Given the description of an element on the screen output the (x, y) to click on. 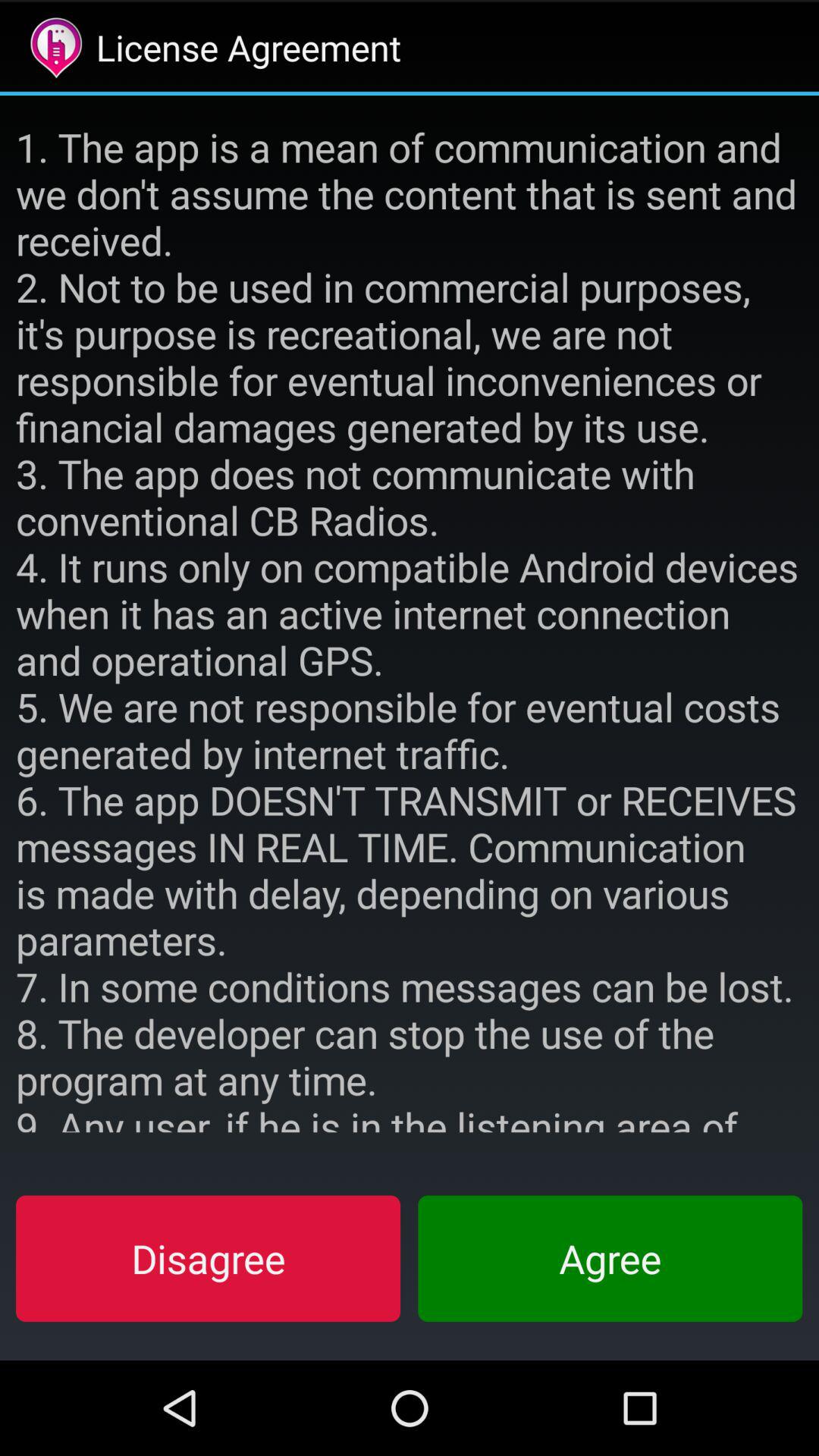
turn off app below 1 the app icon (207, 1258)
